Given the description of an element on the screen output the (x, y) to click on. 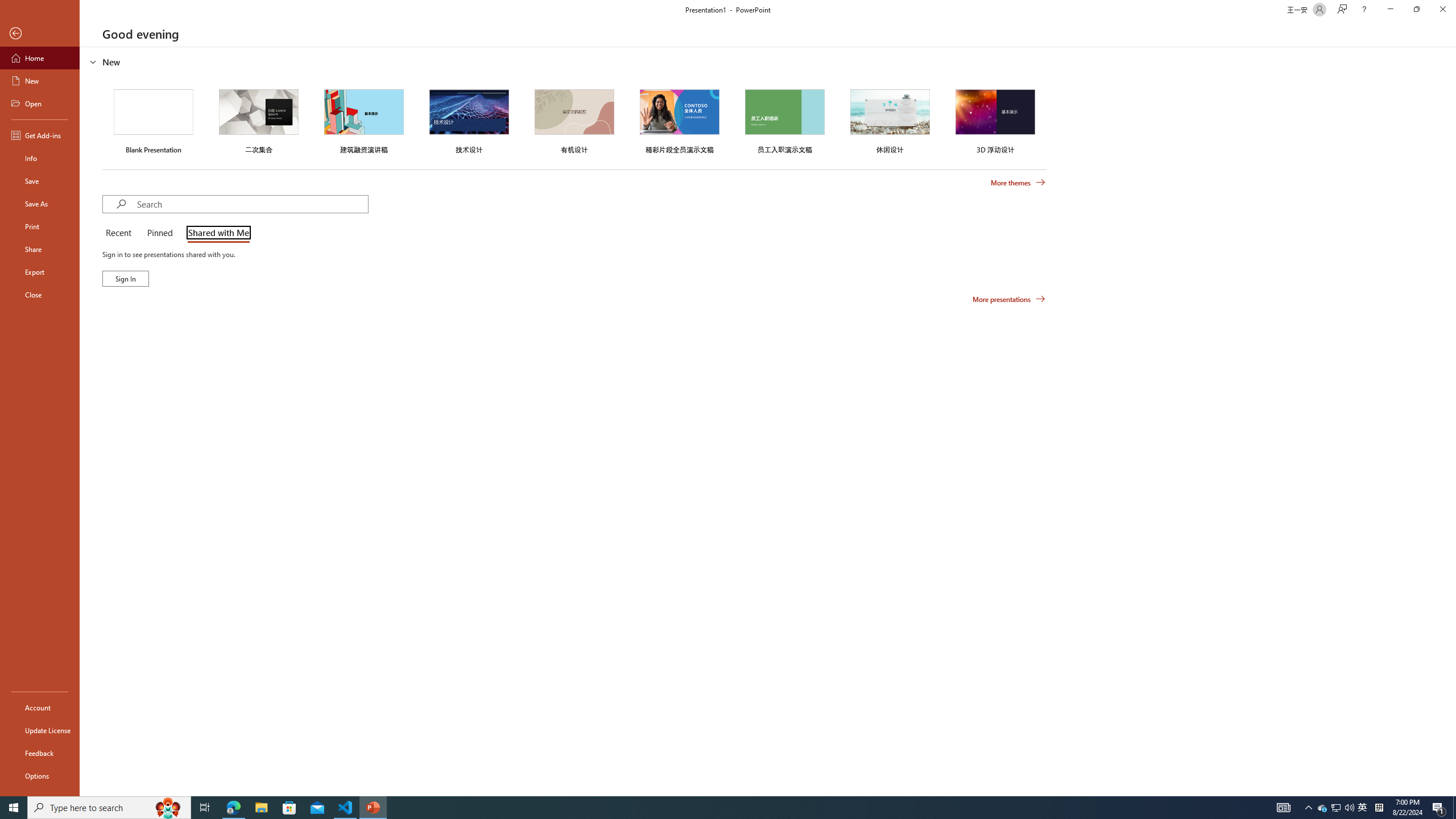
Info (40, 157)
Export (40, 271)
More presentations (1008, 298)
Save As (40, 203)
Class: NetUIScrollBar (1450, 421)
Get Add-ins (40, 134)
Recent (119, 233)
Update License (40, 730)
